Given the description of an element on the screen output the (x, y) to click on. 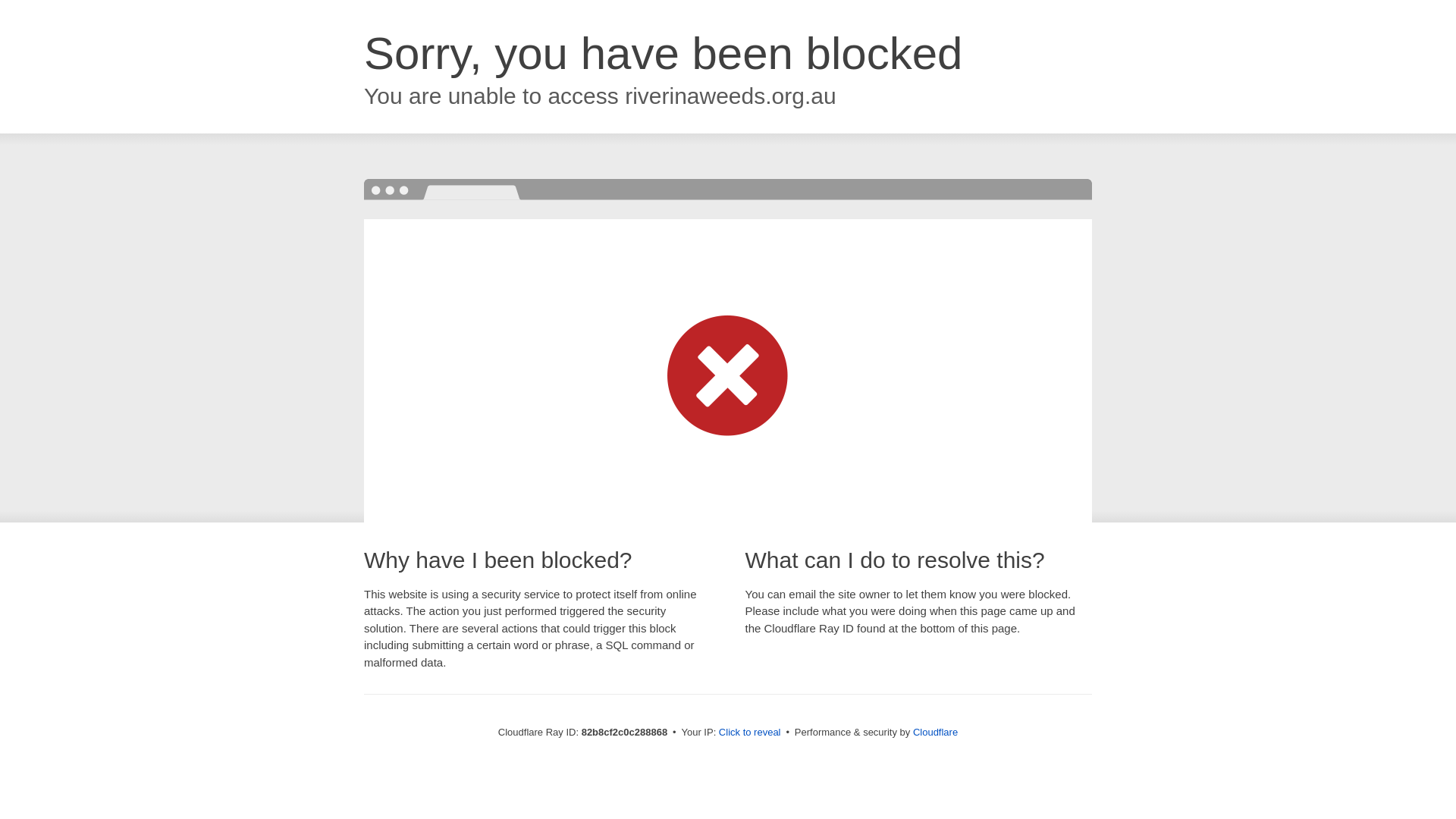
Click to reveal Element type: text (749, 732)
Cloudflare Element type: text (935, 731)
